Given the description of an element on the screen output the (x, y) to click on. 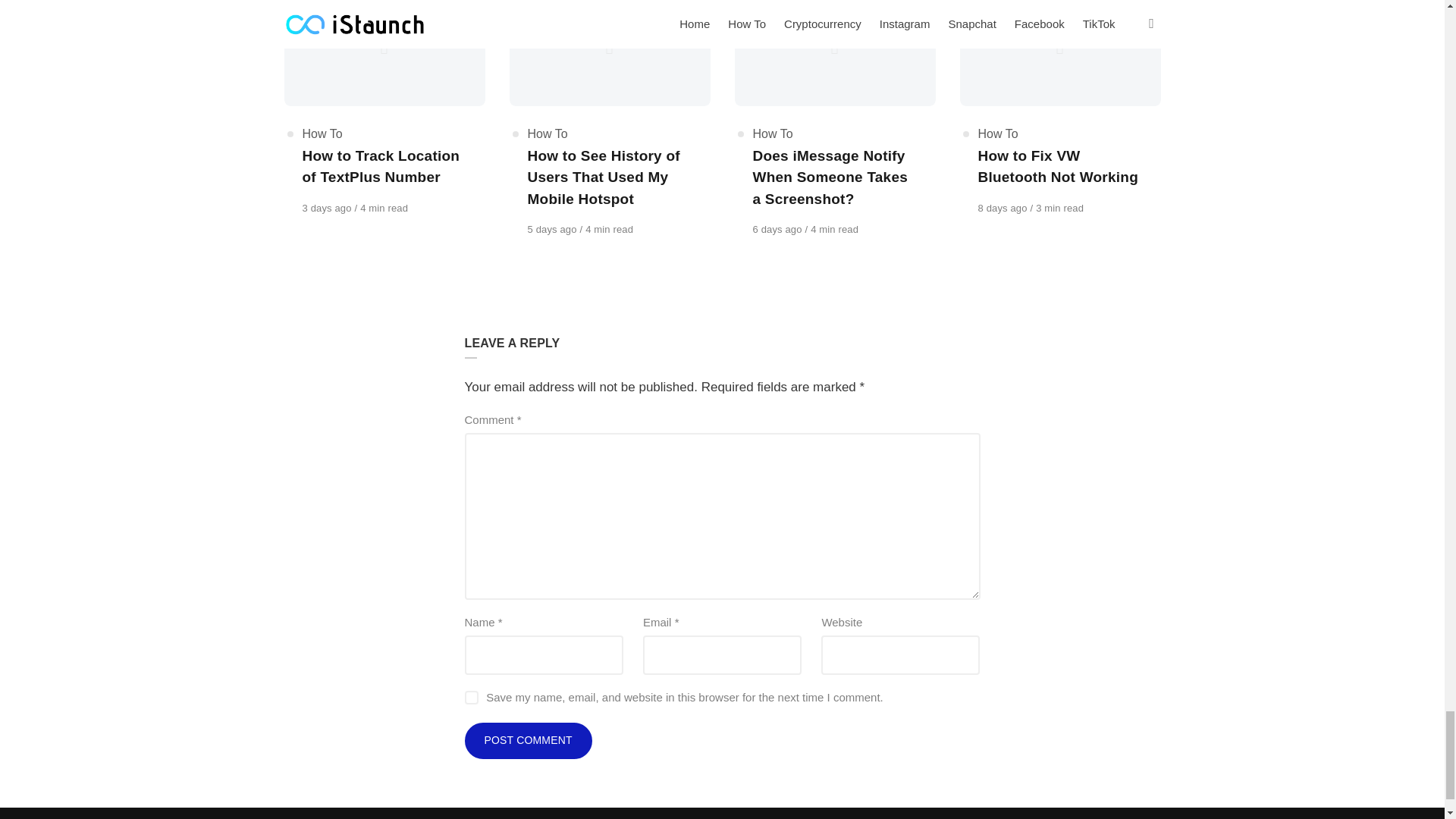
July 22, 2024 (778, 229)
Post Comment (527, 740)
July 23, 2024 (553, 229)
July 20, 2024 (1004, 207)
July 25, 2024 (327, 207)
yes (470, 697)
